Given the description of an element on the screen output the (x, y) to click on. 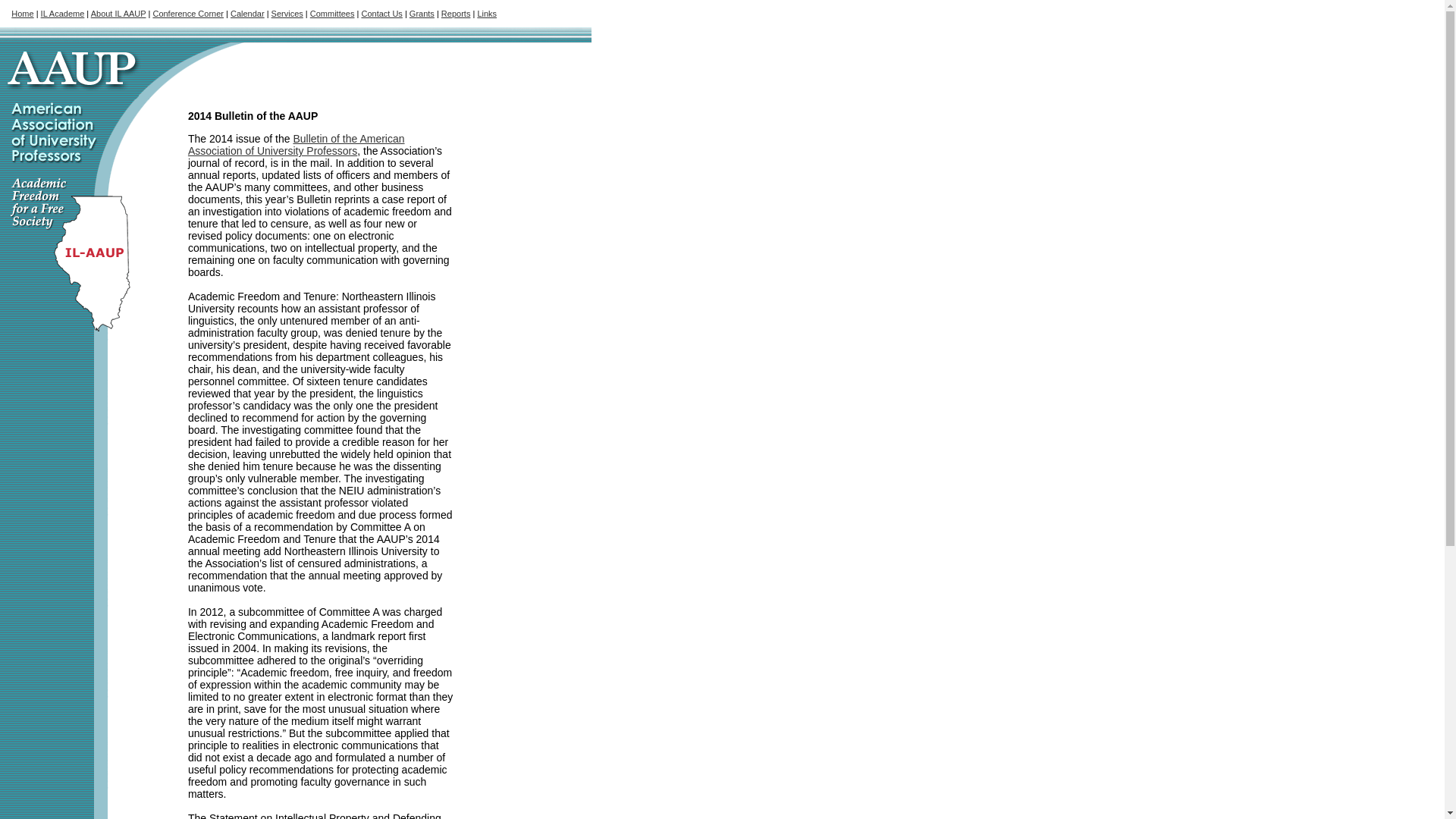
Services (286, 13)
Home (22, 13)
Committees (332, 13)
Contact Us (381, 13)
Calendar (247, 13)
Conference Corner (188, 13)
Grants (421, 13)
IL Academe (62, 13)
About IL AAUP (118, 13)
Links (486, 13)
Reports (455, 13)
